Given the description of an element on the screen output the (x, y) to click on. 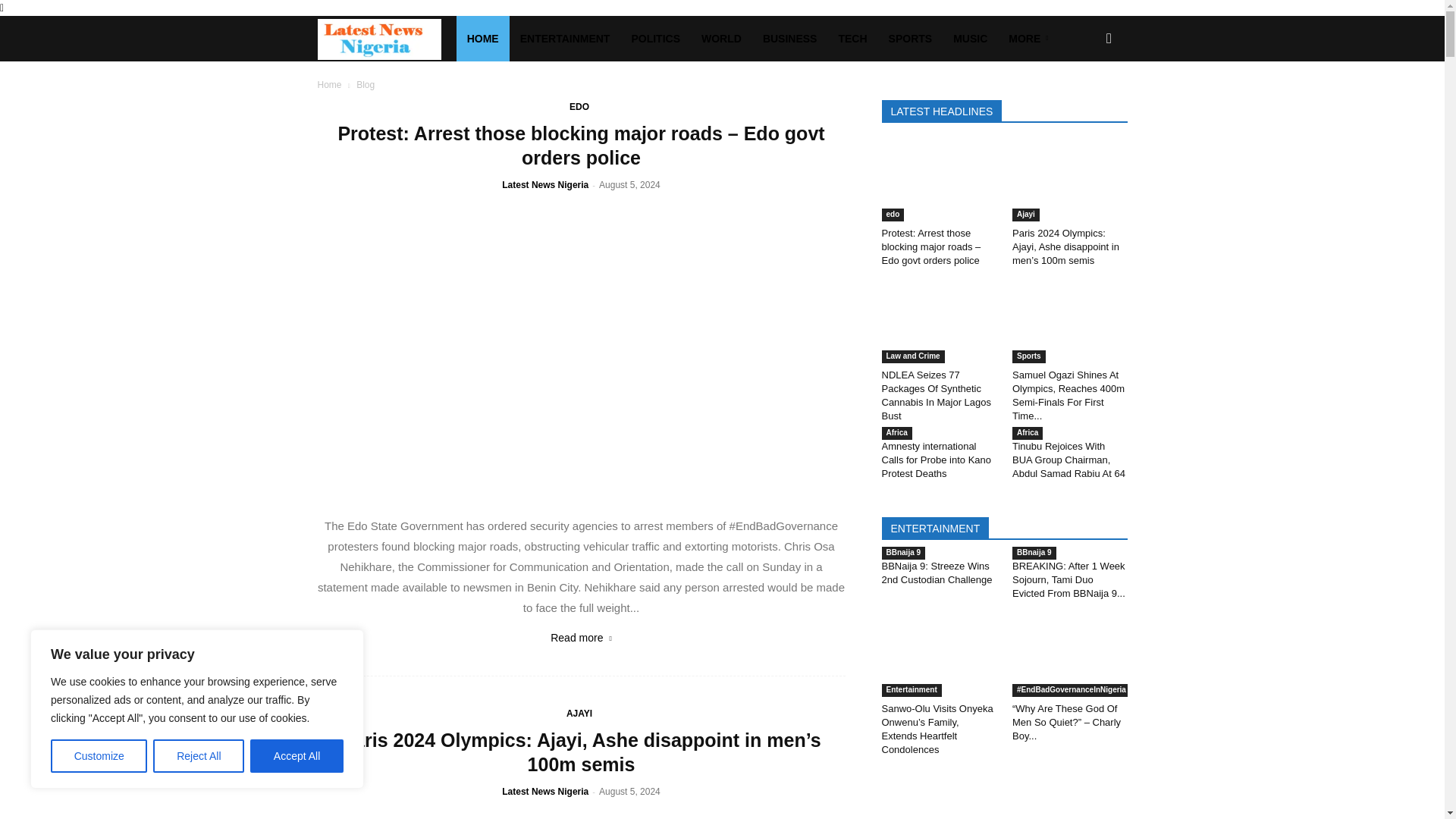
Accept All (296, 756)
Latest News Nigeria (386, 38)
Reject All (198, 756)
Latest News Nigeria (379, 39)
Customize (98, 756)
